Given the description of an element on the screen output the (x, y) to click on. 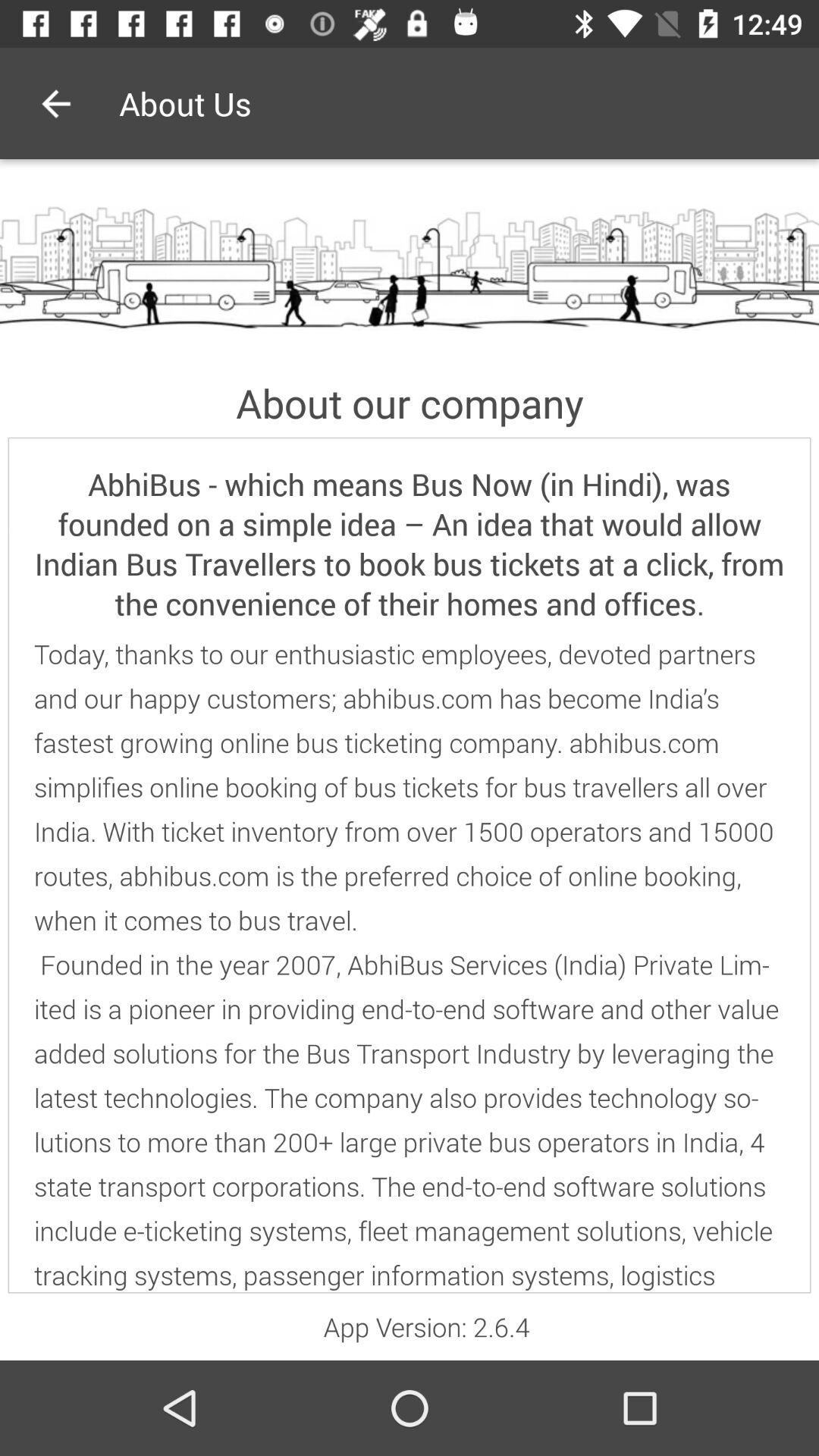
flip to today thanks to icon (409, 964)
